Given the description of an element on the screen output the (x, y) to click on. 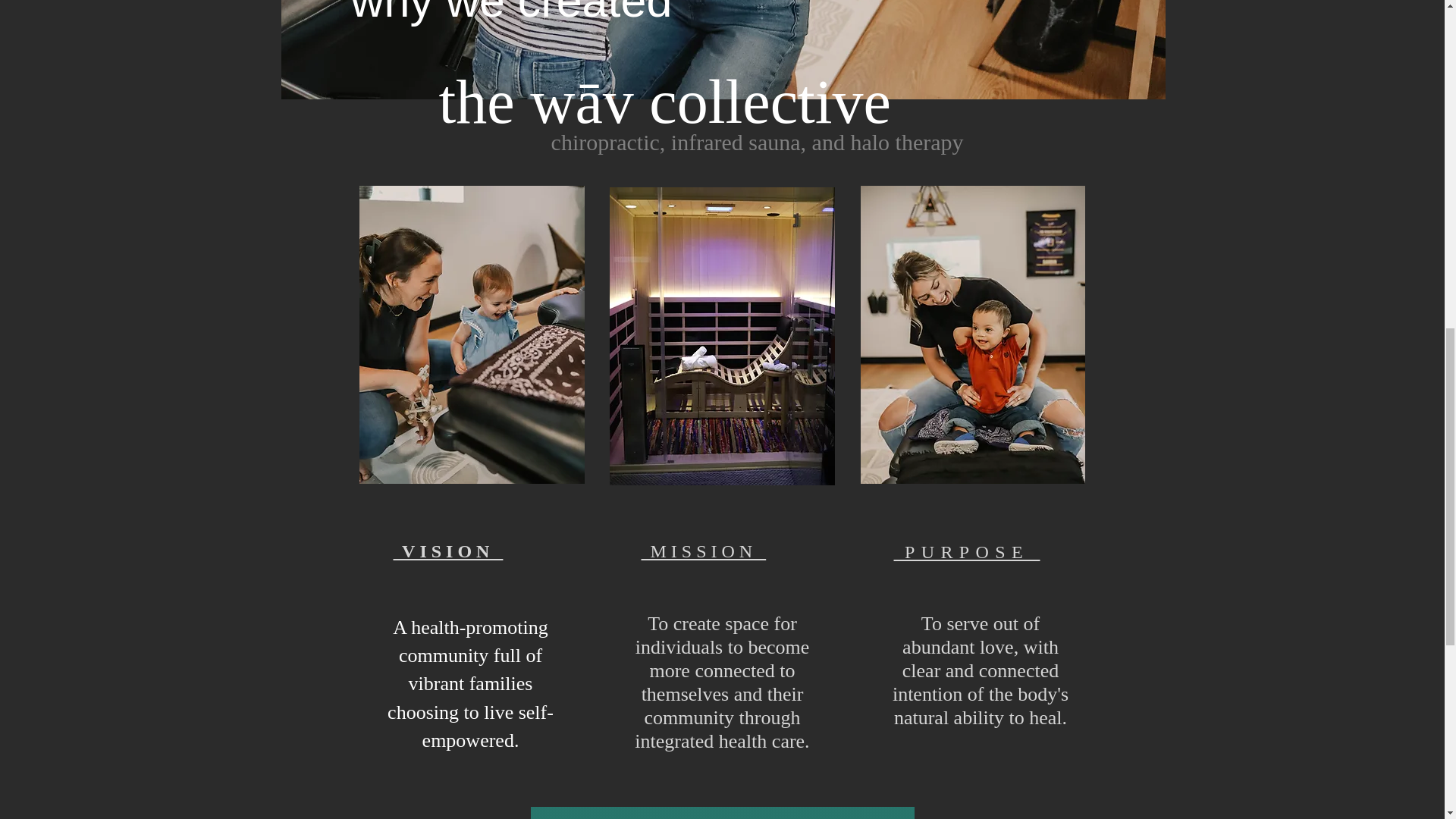
CLICK HERE TO BOOK ONLINE! (722, 812)
